Given the description of an element on the screen output the (x, y) to click on. 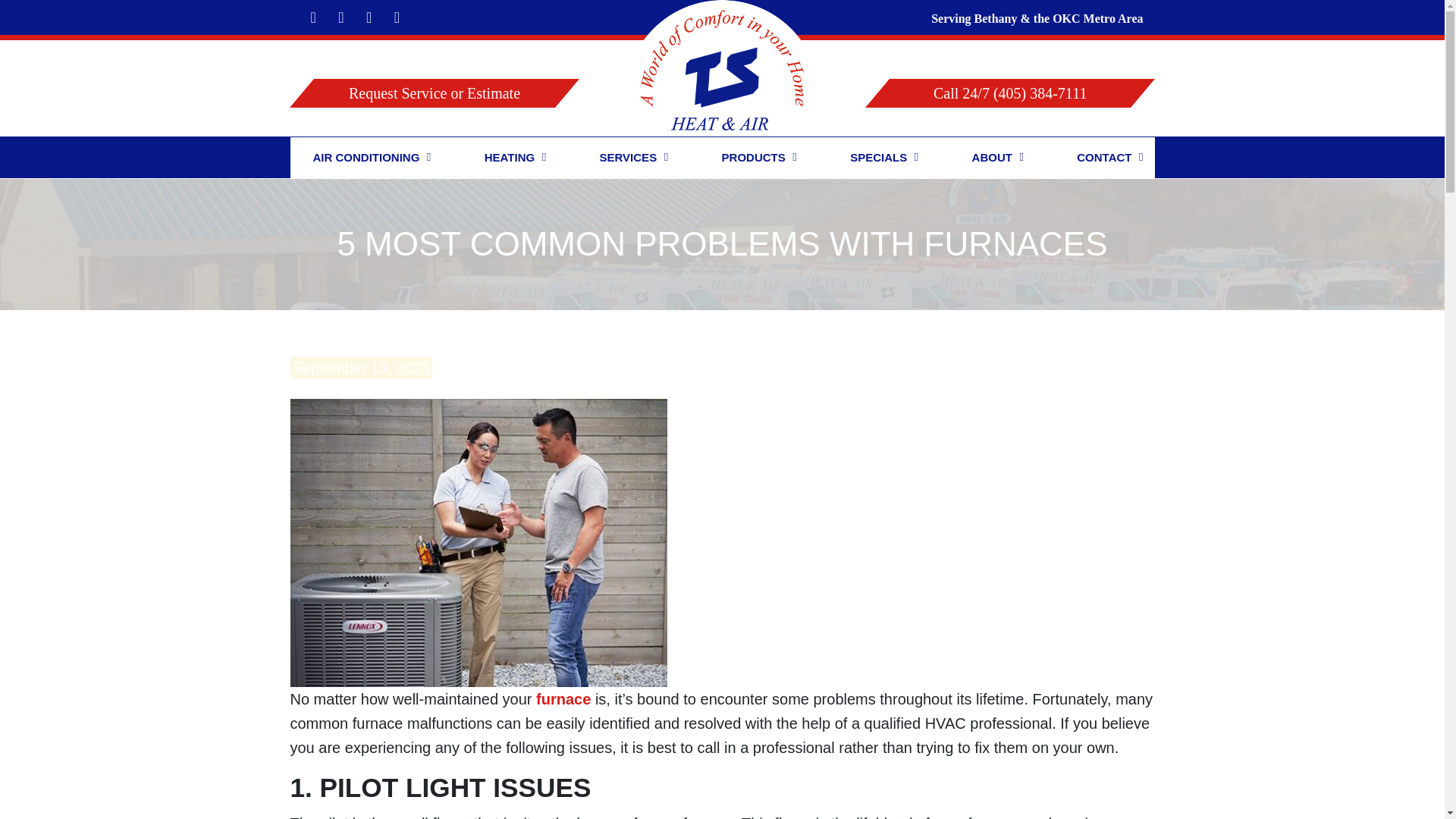
5 Most Common Problems With Furnaces (477, 541)
PRODUCTS (753, 157)
HEATING (509, 157)
SERVICES (628, 157)
ABOUT (991, 157)
SPECIALS (878, 157)
Request Service or Estimate (421, 92)
AIR CONDITIONING (365, 157)
